Given the description of an element on the screen output the (x, y) to click on. 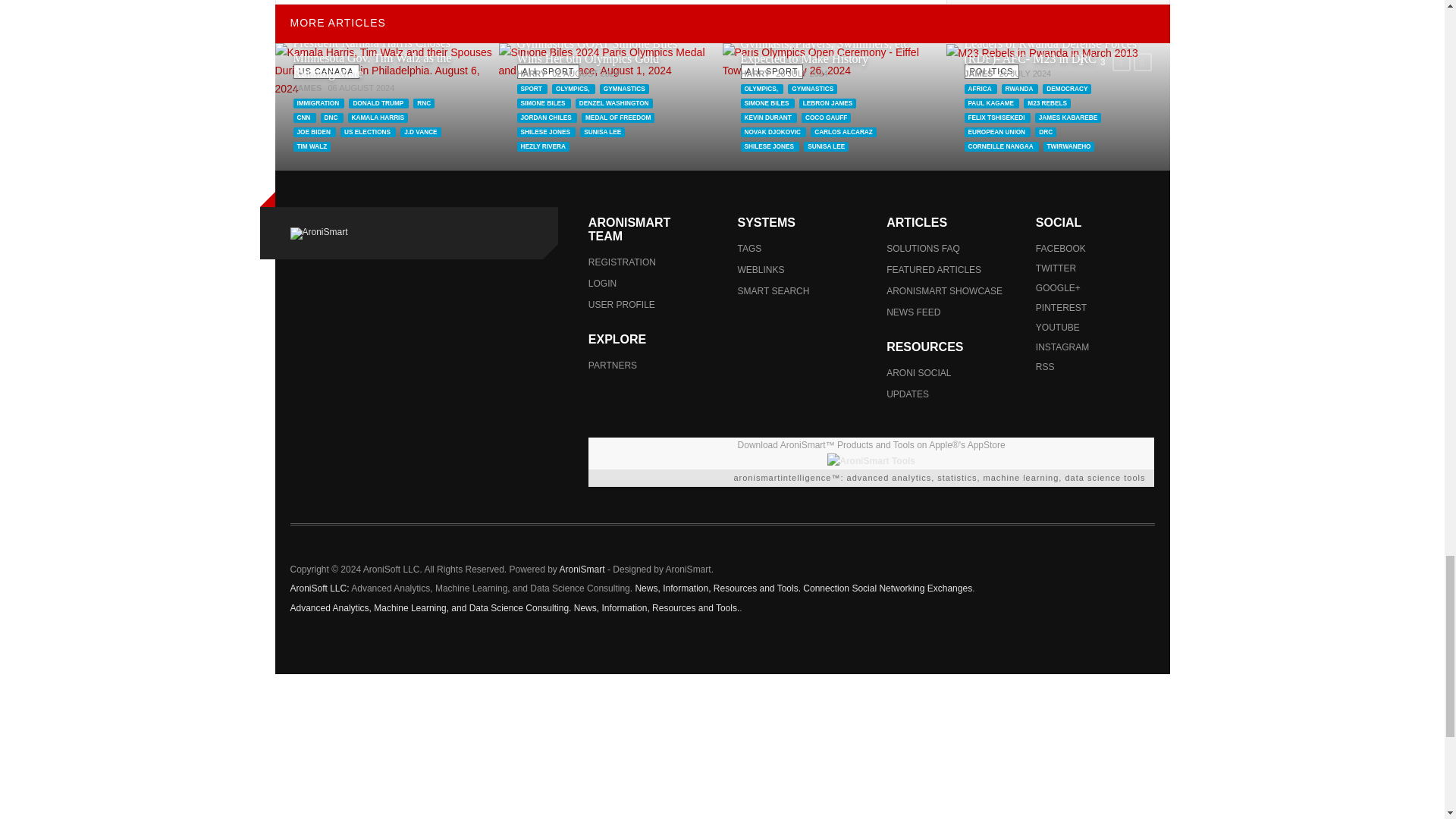
Published:  (360, 88)
Written by:  (306, 88)
Category:  (325, 70)
